Given the description of an element on the screen output the (x, y) to click on. 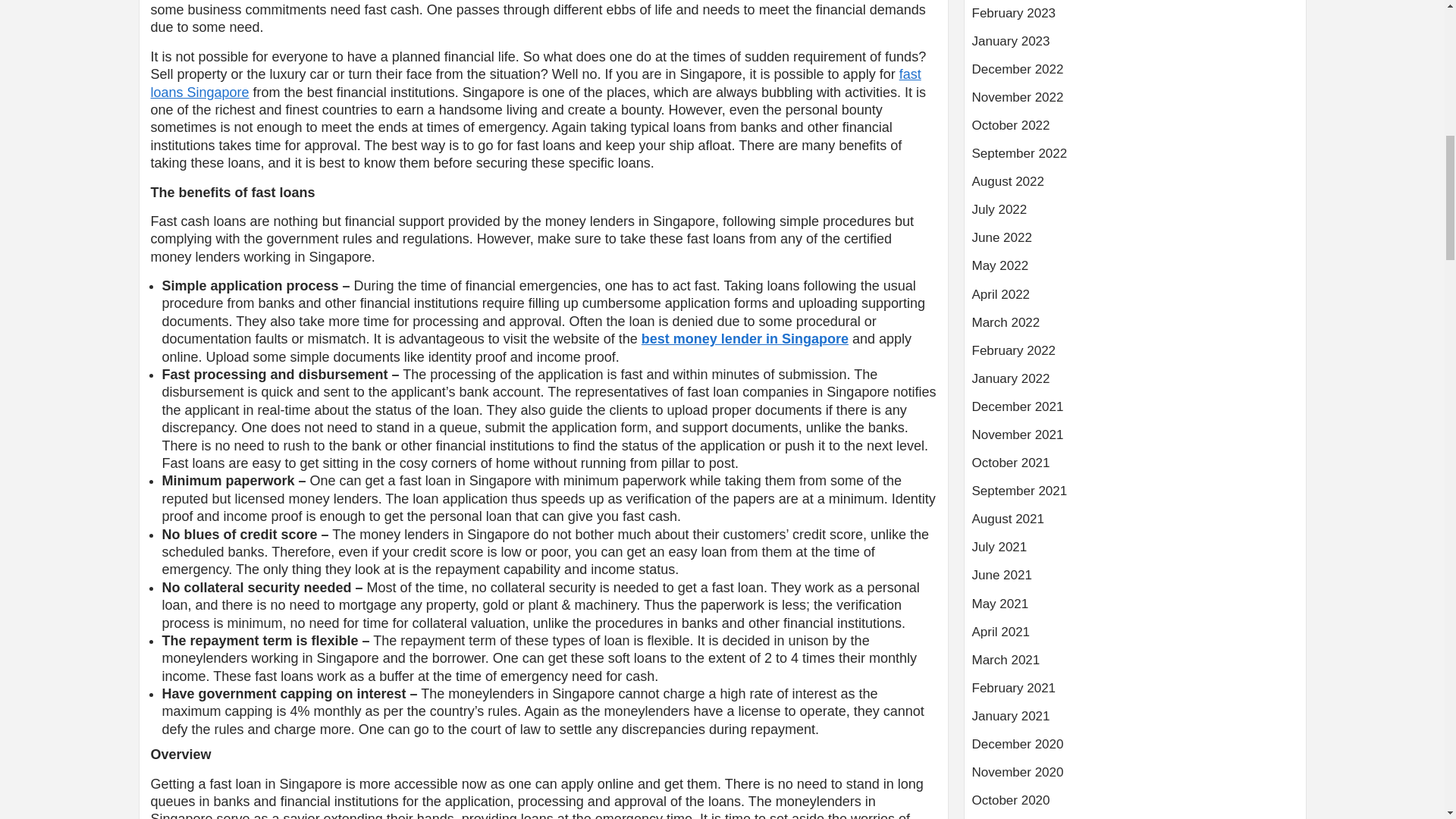
February 2023 (1135, 18)
January 2023 (1135, 47)
best money lender in Singapore (745, 338)
March 2023 (1135, 2)
fast loans Singapore (534, 82)
